Given the description of an element on the screen output the (x, y) to click on. 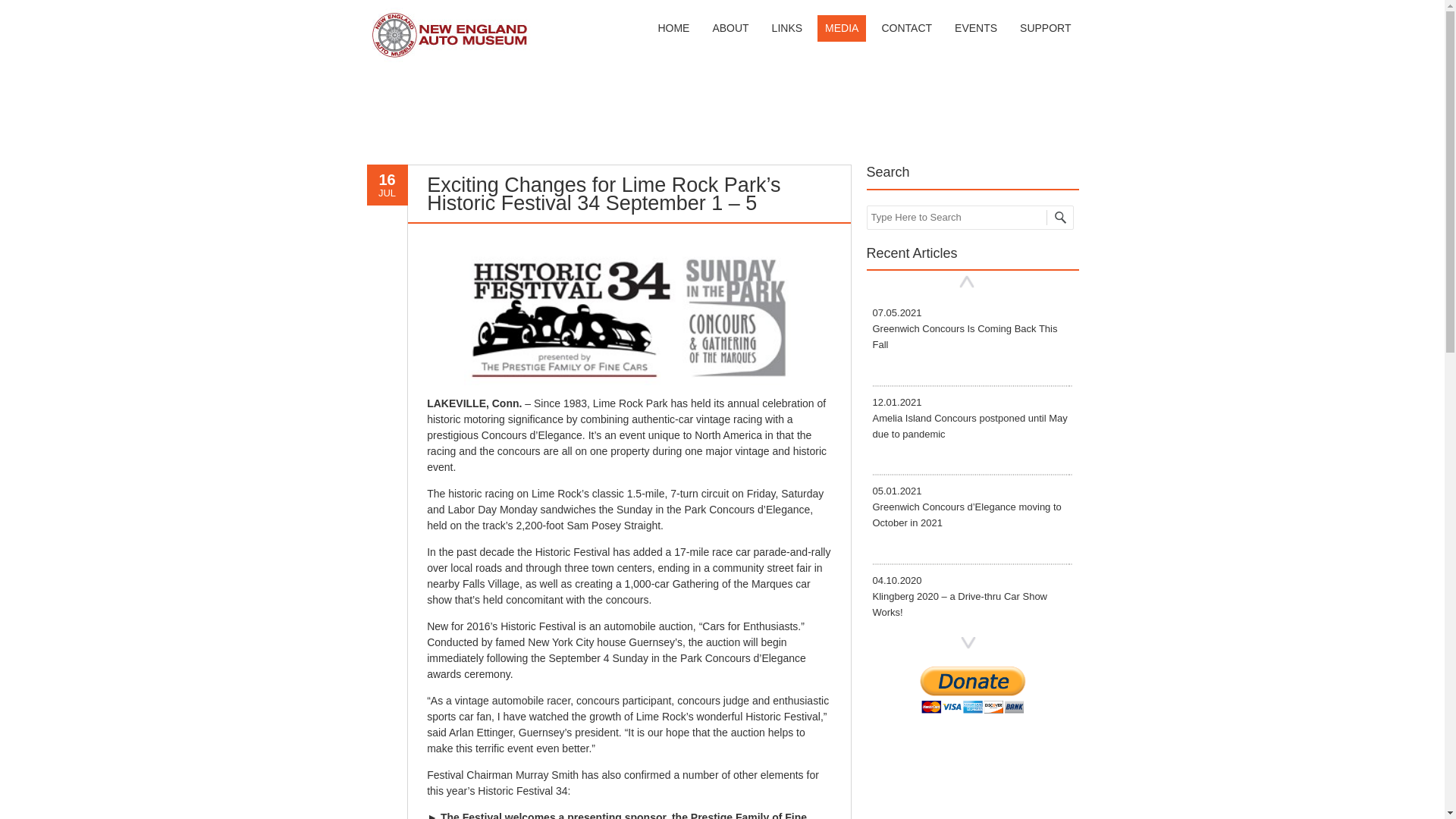
HOME (673, 28)
Search (34, 12)
An exciting new attraction for Connecticut and New England! (448, 59)
Amelia Island Concours postponed until May due to pandemic (969, 417)
LINKS (786, 28)
ABOUT (729, 28)
SUPPORT (1044, 28)
CONTACT (906, 28)
Greenwich Concours Is Coming Back This Fall (964, 328)
EVENTS (975, 28)
MEDIA (964, 328)
